Given the description of an element on the screen output the (x, y) to click on. 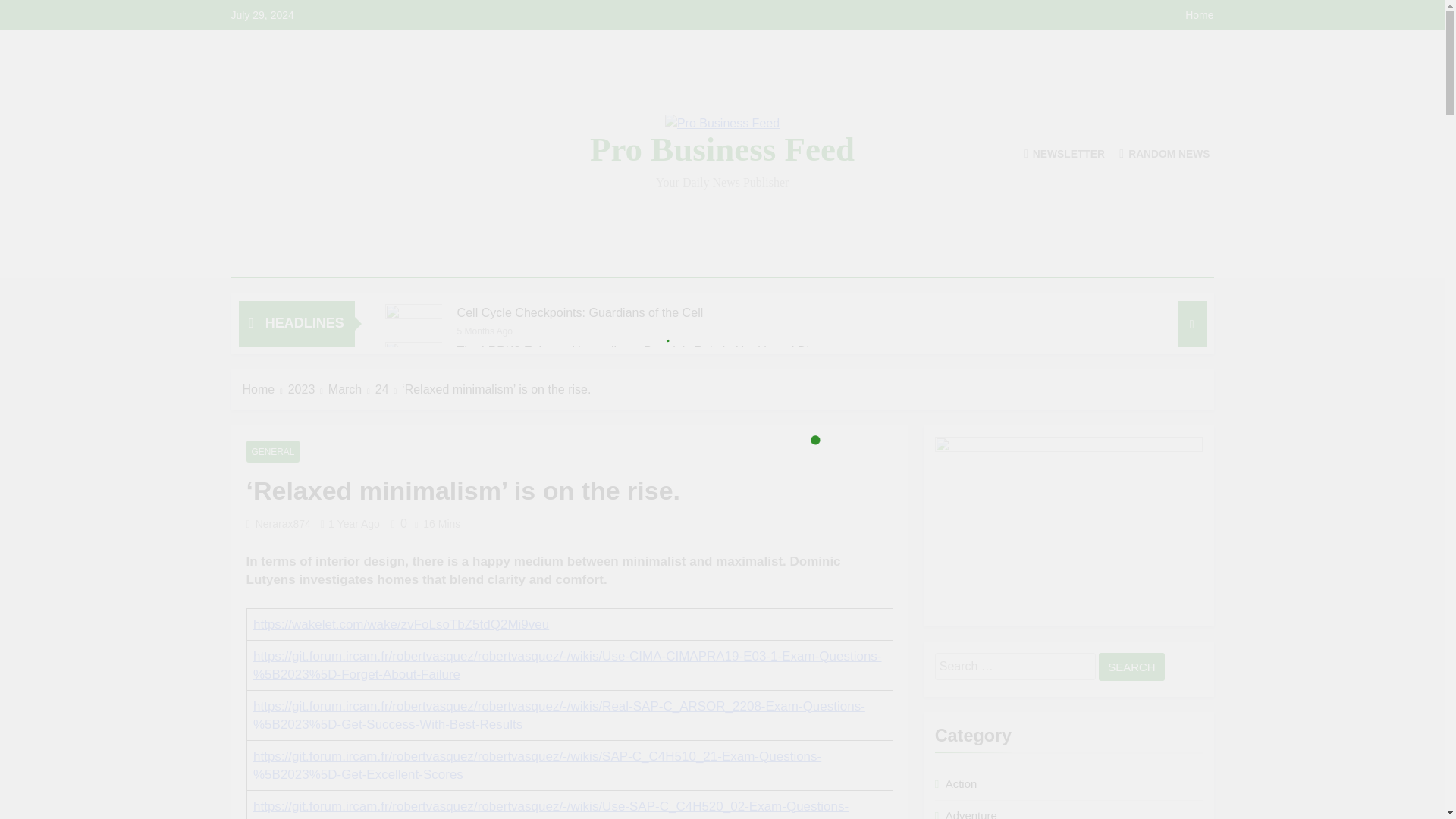
Search (1131, 666)
RANDOM NEWS (1164, 153)
5 Months Ago (484, 329)
2023 (308, 389)
March (352, 389)
Home (265, 389)
Nerarax874 (283, 523)
1 Year Ago (354, 523)
Search (1131, 666)
0 (396, 522)
Cell Cycle Checkpoints: Guardians of the Cell (580, 312)
GENERAL (272, 451)
24 (388, 389)
NEWSLETTER (1064, 153)
Home (1198, 15)
